Given the description of an element on the screen output the (x, y) to click on. 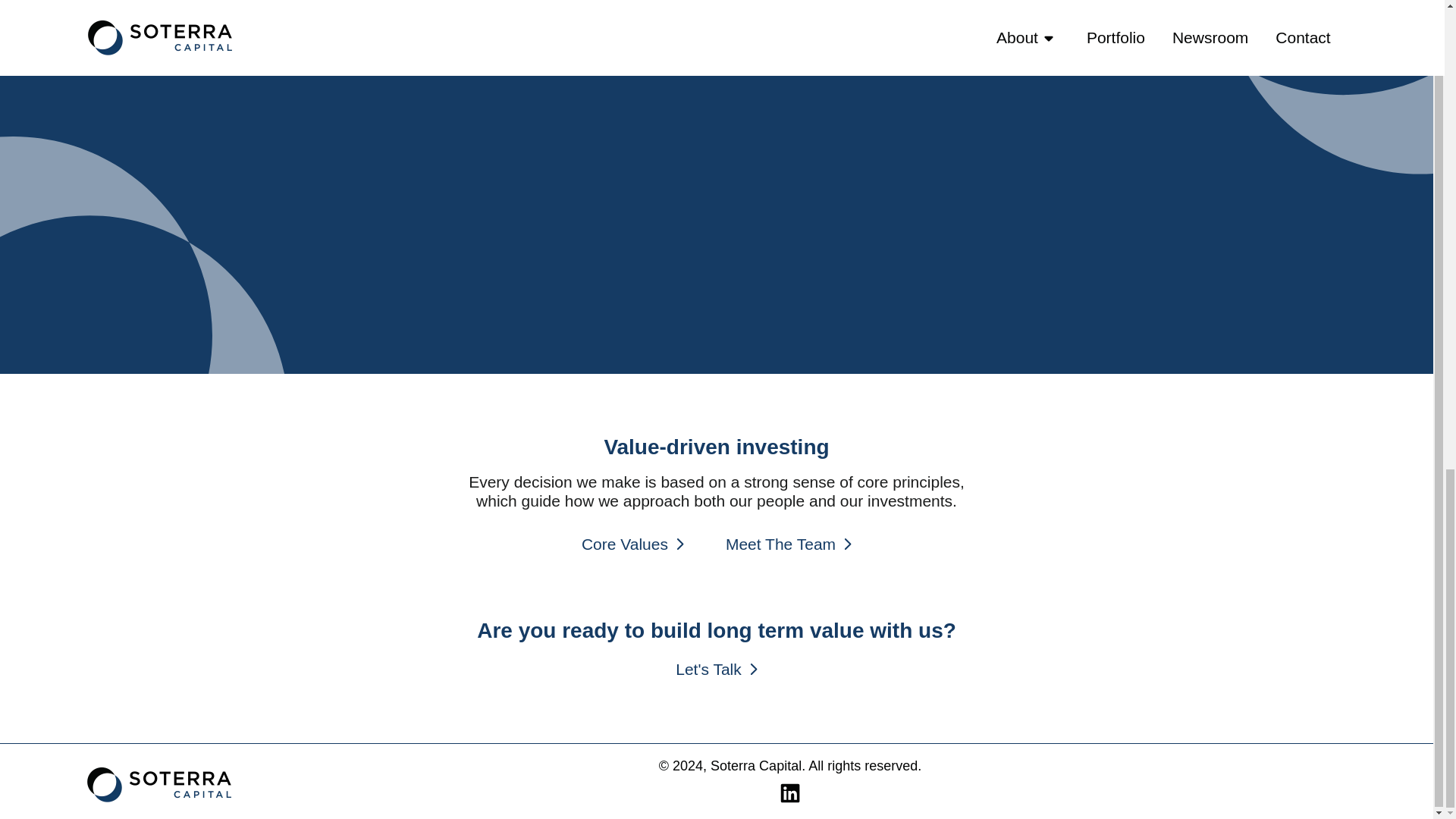
Core Values (632, 543)
Let's Talk (716, 669)
Meet The Team (789, 543)
